Given the description of an element on the screen output the (x, y) to click on. 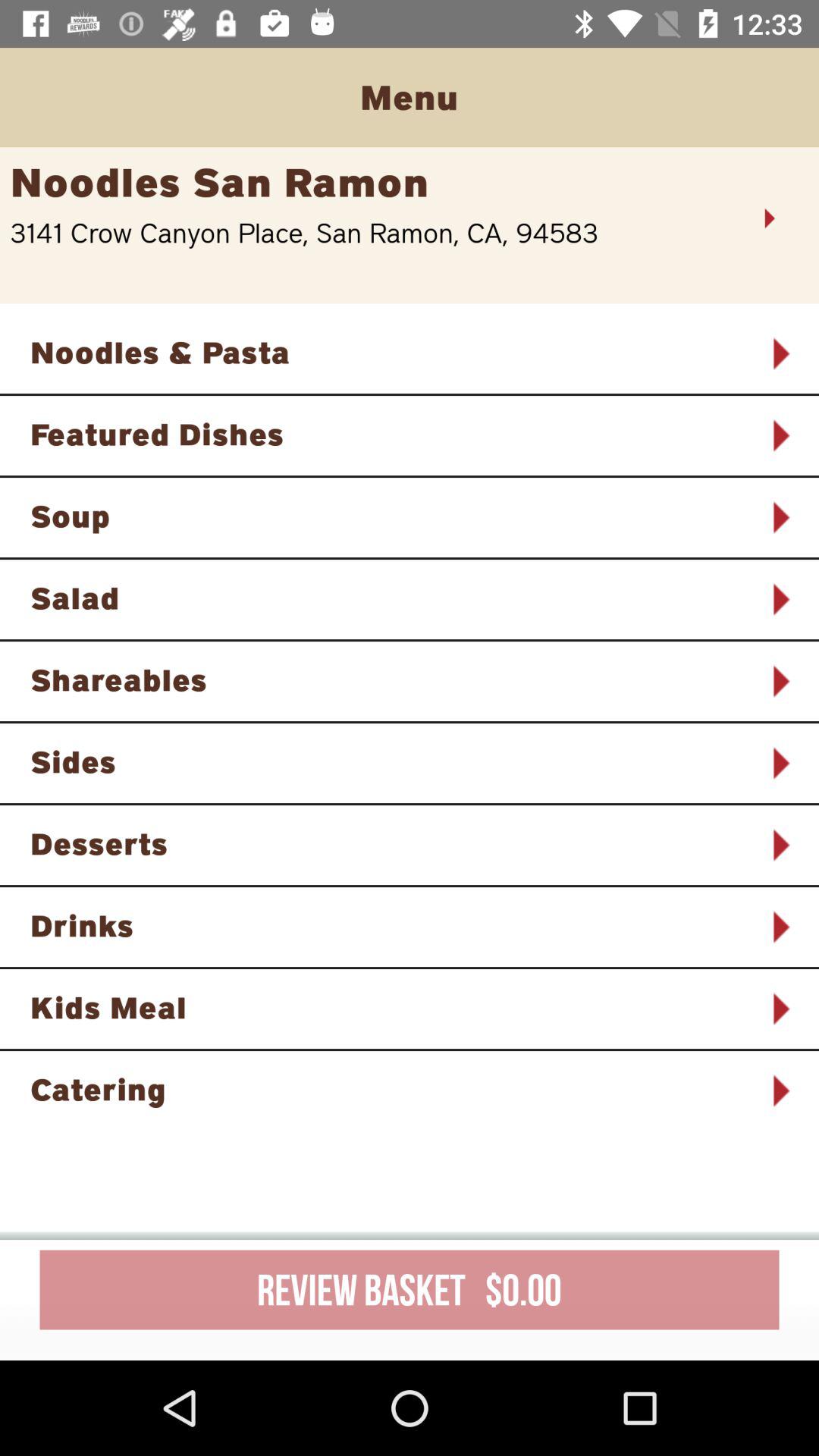
choose item above the sides (390, 679)
